Given the description of an element on the screen output the (x, y) to click on. 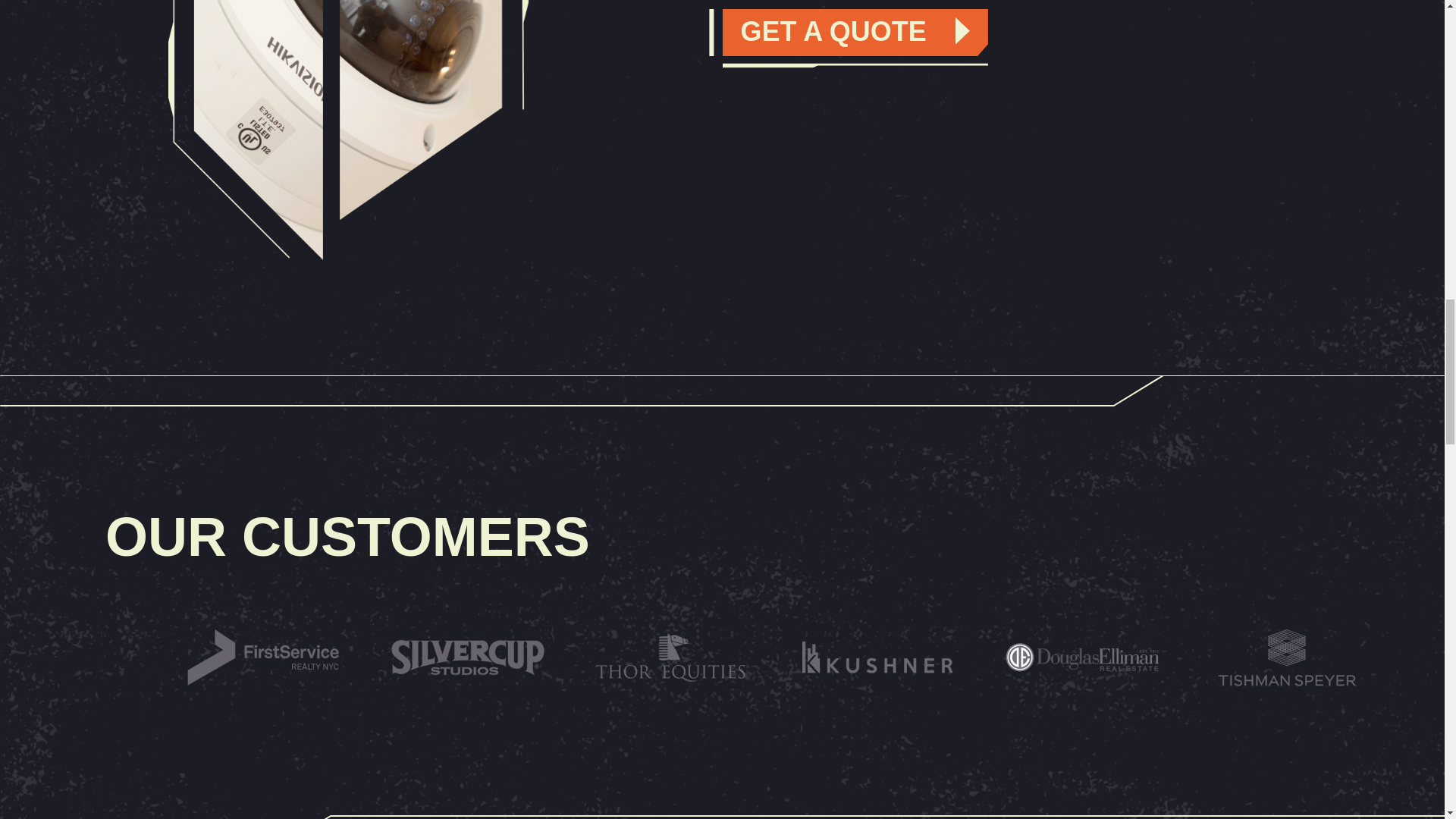
GET A QUOTE (854, 32)
